Given the description of an element on the screen output the (x, y) to click on. 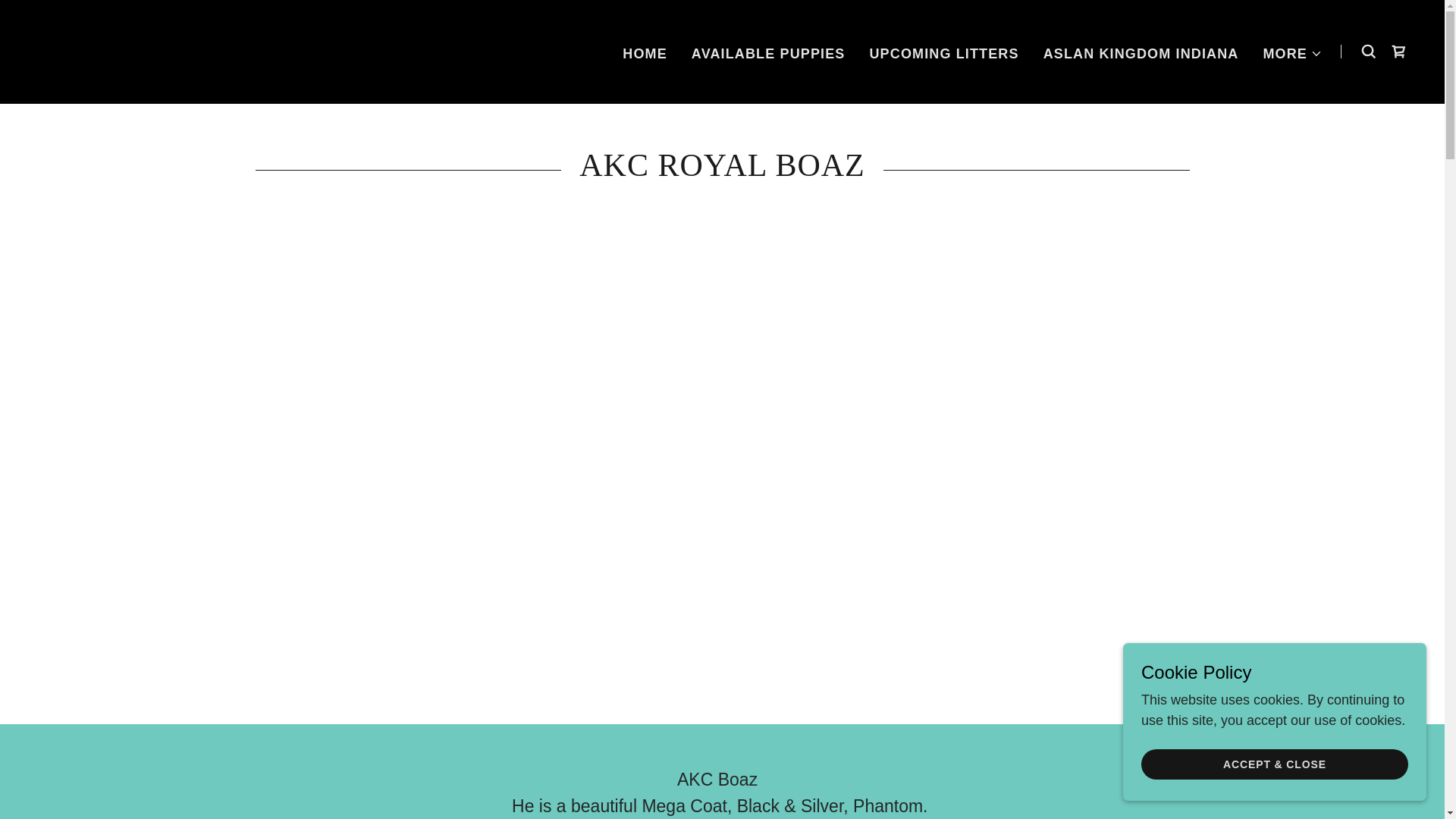
Aslan Kingdom Kennel (69, 50)
UPCOMING LITTERS (943, 52)
MORE (1292, 53)
ASLAN KINGDOM INDIANA (1141, 52)
AVAILABLE PUPPIES (768, 52)
HOME (644, 52)
